Given the description of an element on the screen output the (x, y) to click on. 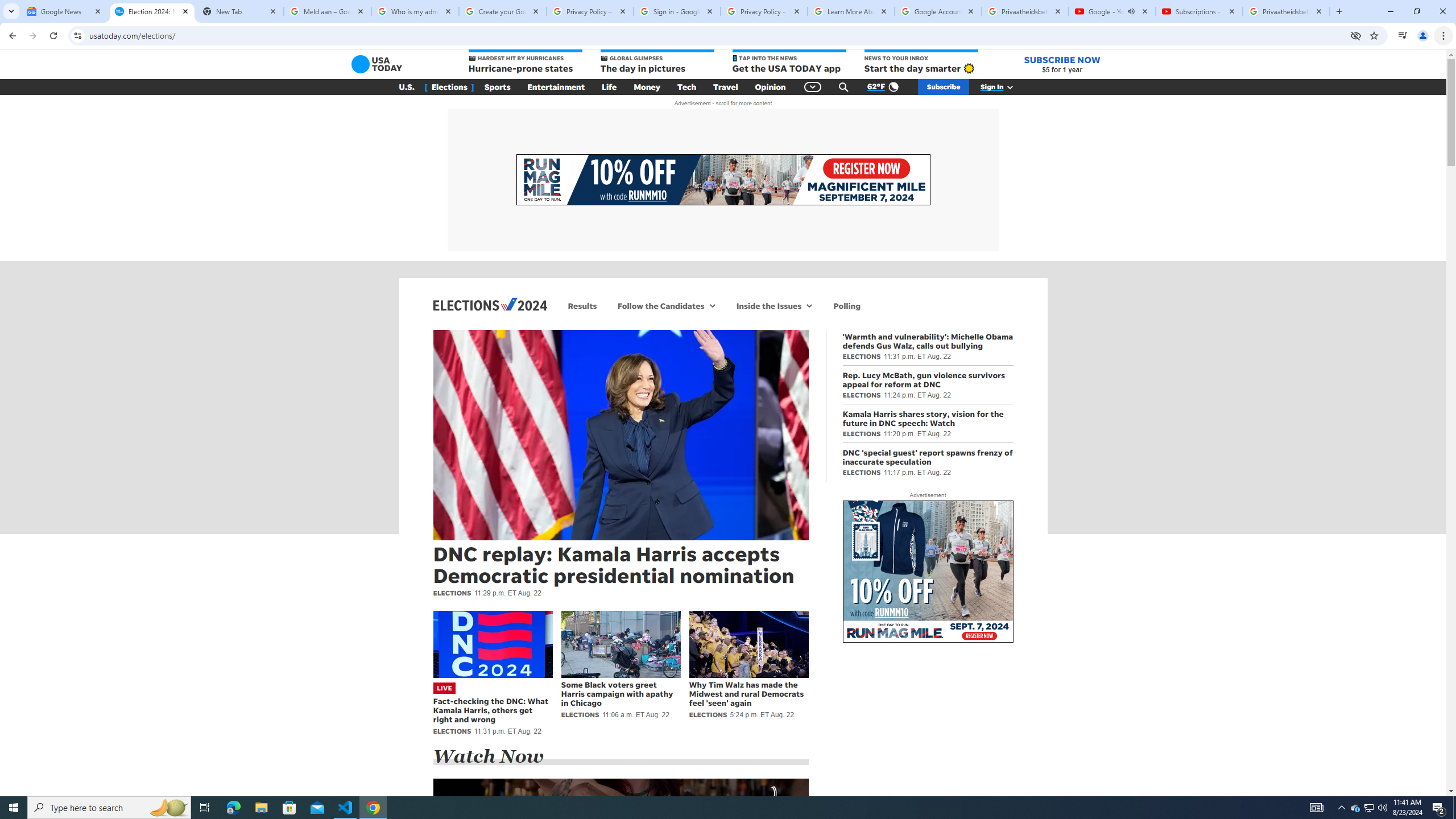
New Tab (239, 11)
Global Navigation (812, 87)
Who is my administrator? - Google Account Help (415, 11)
Entertainment (556, 87)
AutomationID: aw0 (928, 572)
Google News (64, 11)
